Given the description of an element on the screen output the (x, y) to click on. 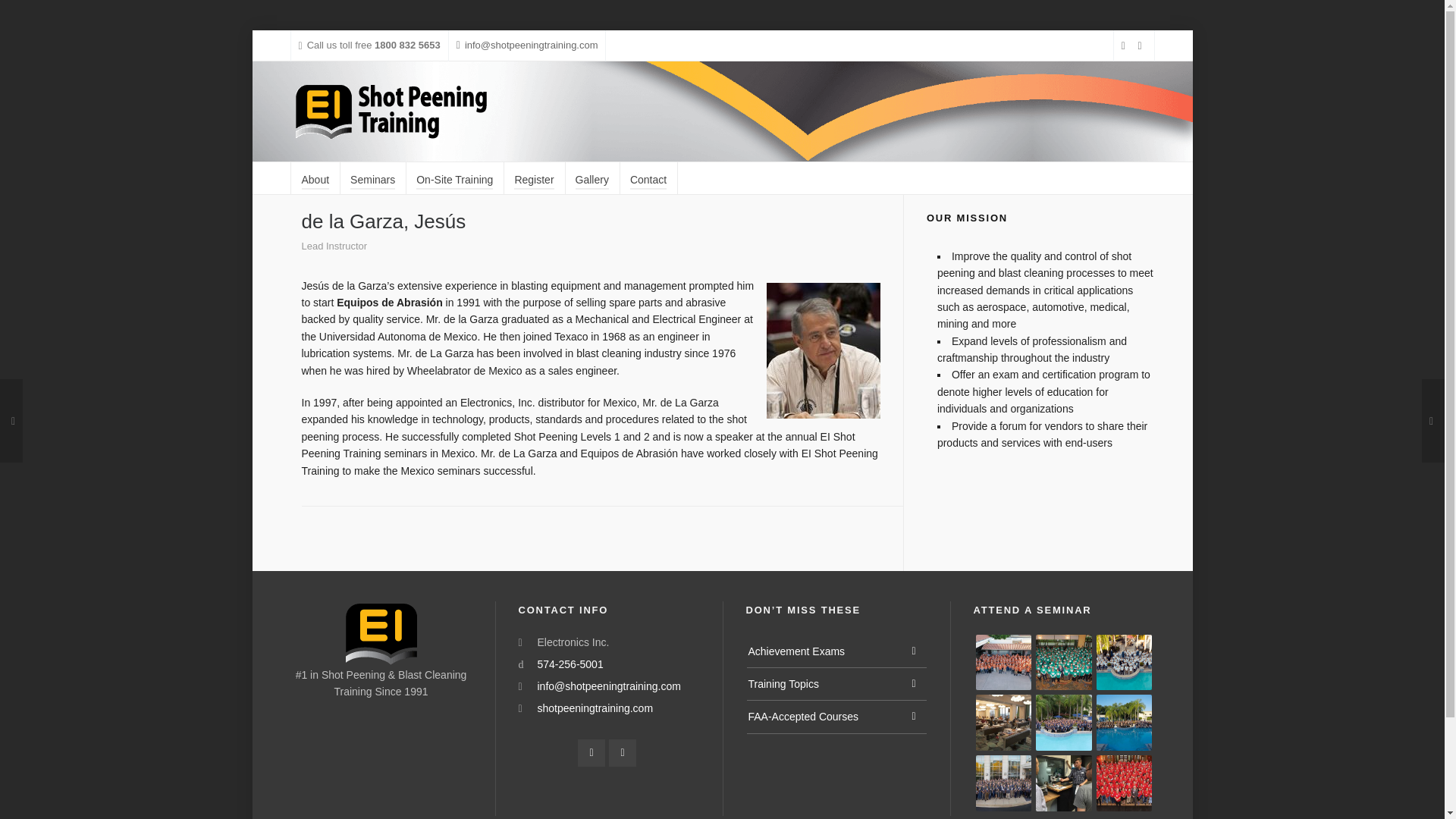
2020 USA Seminar and Workshop (1002, 722)
2018 USA Seminar and Workshop (1002, 783)
2021 USA Seminar and Workshop (1124, 662)
2016 Germany Seminar and Workshop (1063, 783)
On-Site Training (454, 178)
2023 USA Seminar and Workshop (1002, 662)
About (314, 178)
2022 USA Seminar and Workshop (1063, 662)
2019 USA Seminar and Workshop (1124, 722)
2017 USA Seminar and Workshop (1063, 722)
2016 USA Workshop and Seminar (1124, 783)
Seminars (372, 178)
